Given the description of an element on the screen output the (x, y) to click on. 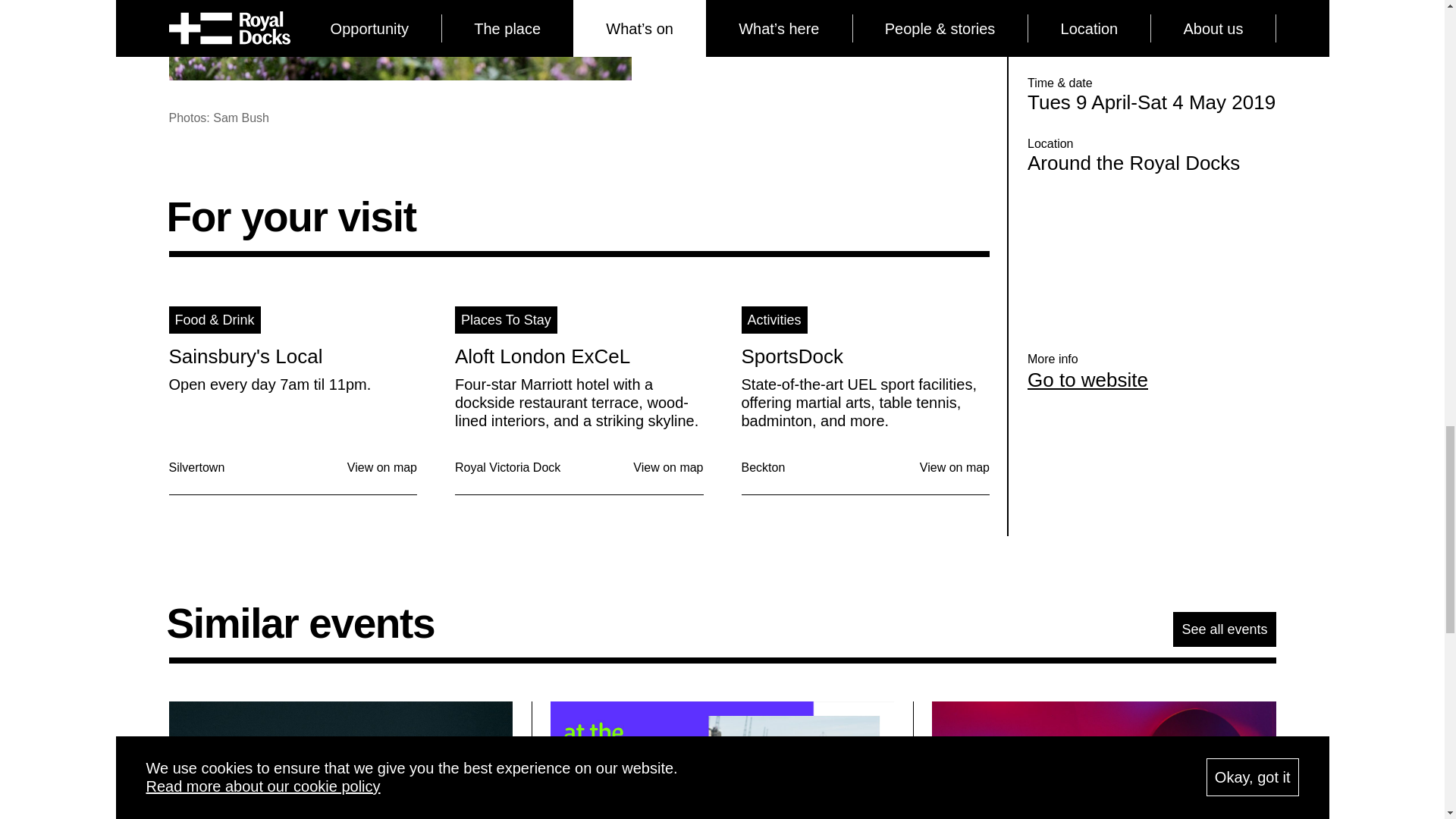
See all events (1224, 629)
View on map (381, 467)
View on map (955, 467)
View on map (668, 467)
